Given the description of an element on the screen output the (x, y) to click on. 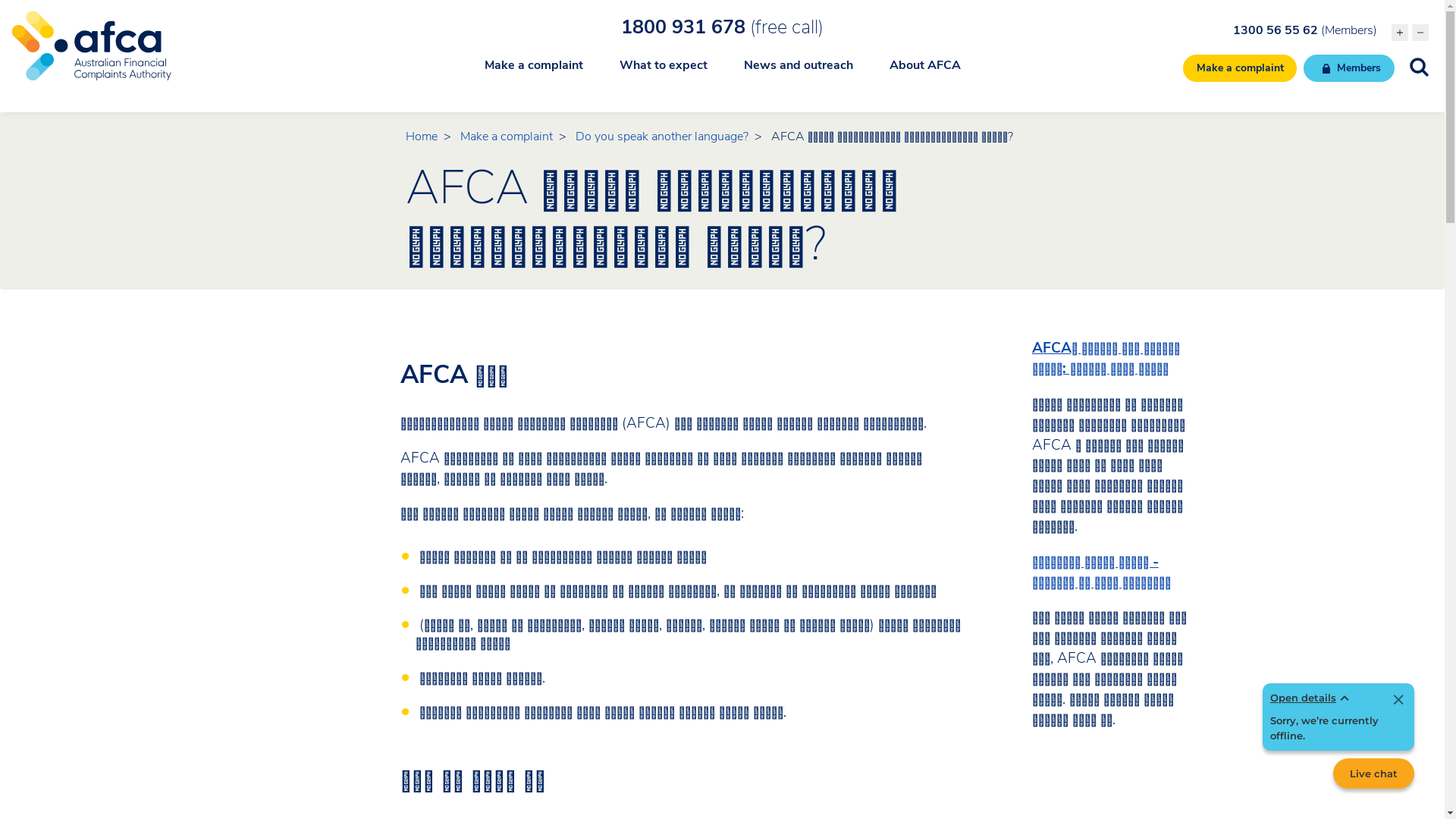
Close the status popup Element type: text (1398, 700)
Live chat Element type: text (1373, 773)
Make a complaint Element type: text (532, 75)
1800 931 678 (free call) Element type: text (722, 27)
A Element type: text (1420, 32)
About AFCA Element type: text (924, 75)
Home Element type: text (421, 136)
Make a complaint Element type: text (506, 136)
What to expect Element type: text (662, 75)
Skip to main content Element type: text (721, 1)
A Element type: text (1399, 32)
Click here to perform a search Element type: text (1418, 66)
Do you speak another language? Element type: text (661, 136)
Open details Element type: text (1311, 697)
1300 56 55 62 (Members) Element type: text (1305, 29)
Members Element type: text (1348, 67)
Search Element type: text (79, 17)
Make a complaint Element type: text (1240, 67)
News and outreach Element type: text (797, 75)
